Given the description of an element on the screen output the (x, y) to click on. 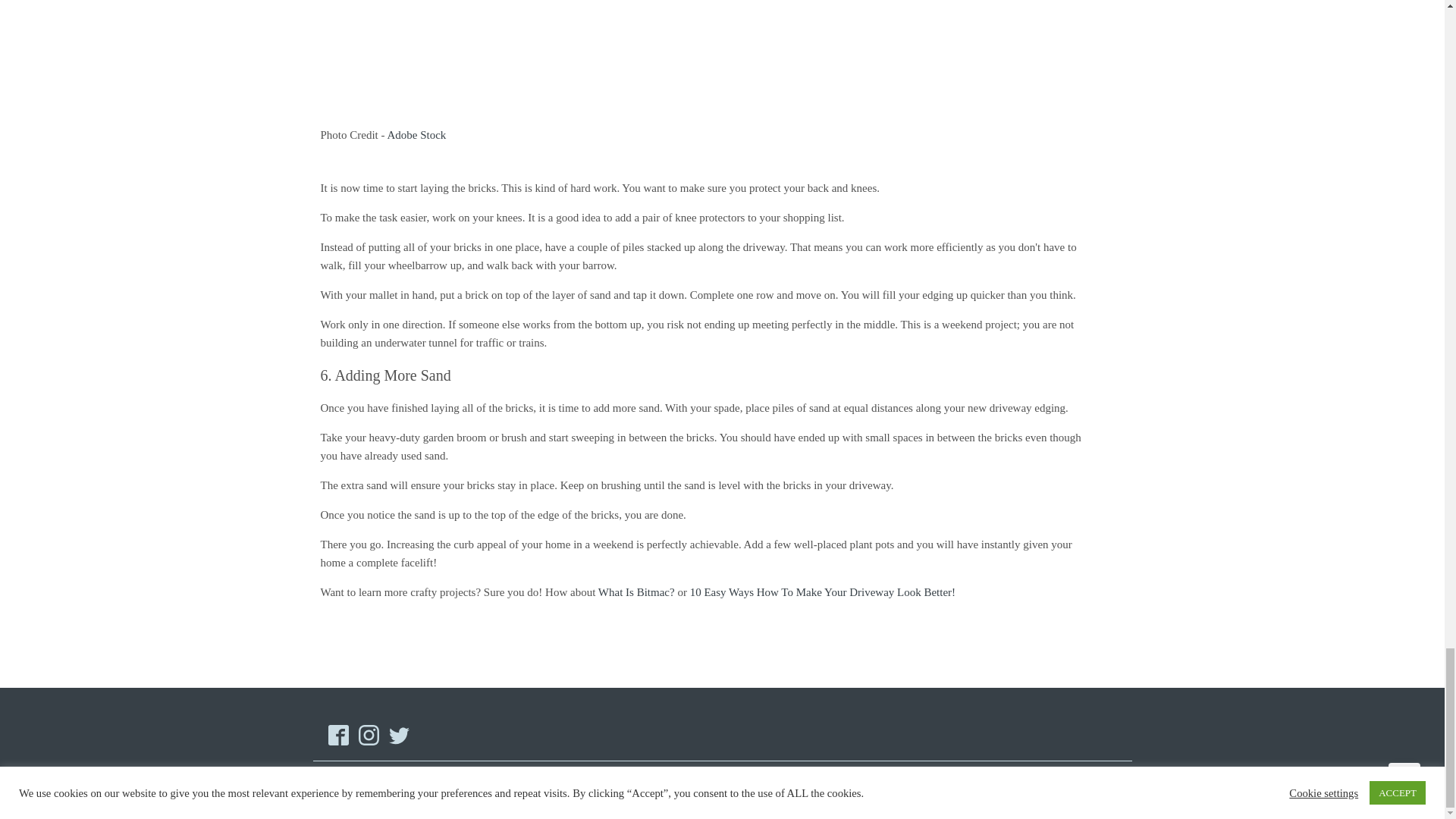
10 Easy Ways How To Make Your Driveway Look Better! (822, 592)
Adobe Stock (416, 134)
What Is Bitmac? (636, 592)
CRAFTDAILY (411, 790)
Privacy-Policy (961, 789)
